Given the description of an element on the screen output the (x, y) to click on. 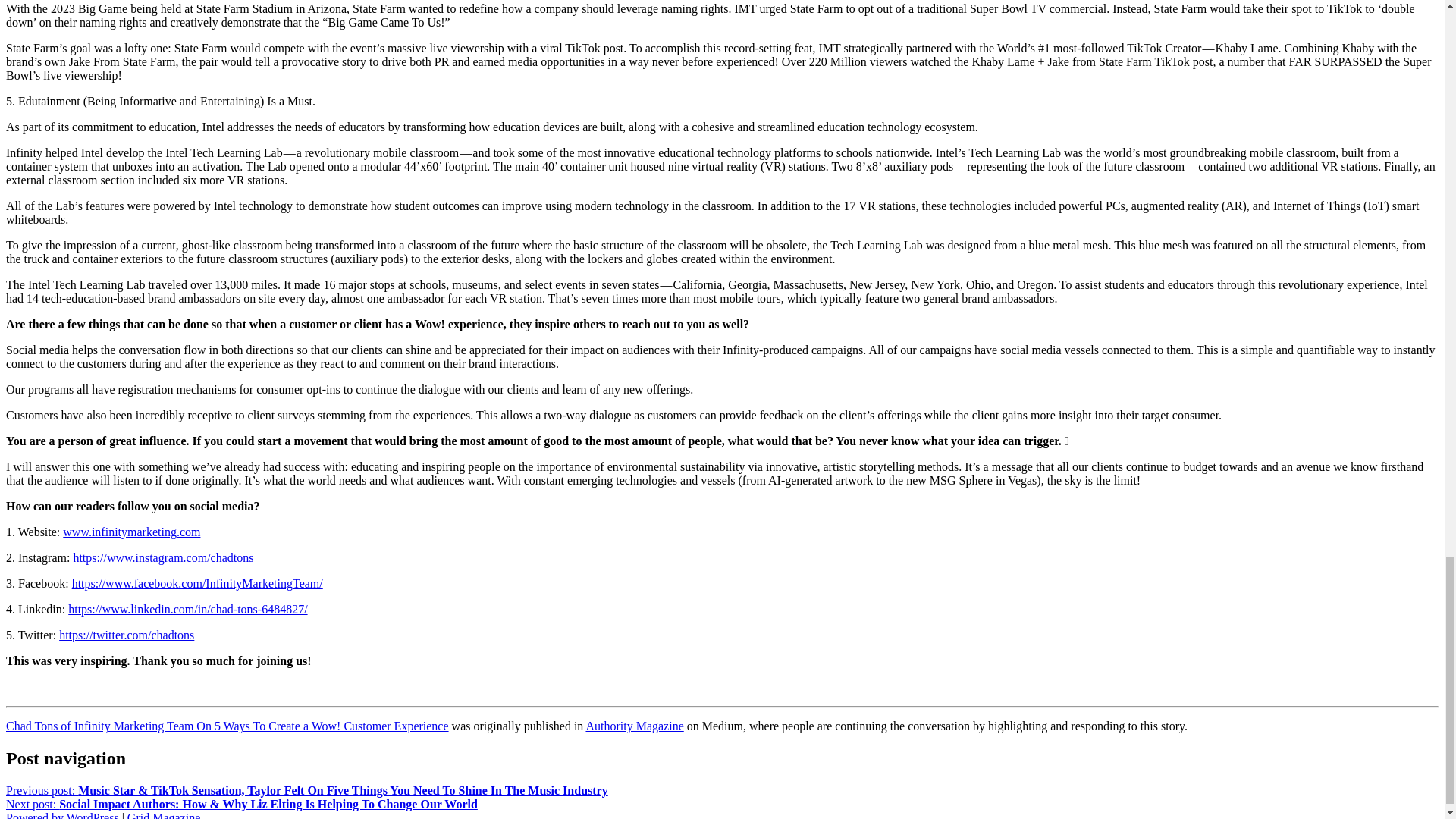
www.infinitymarketing.com (131, 531)
Authority Magazine (633, 725)
